Given the description of an element on the screen output the (x, y) to click on. 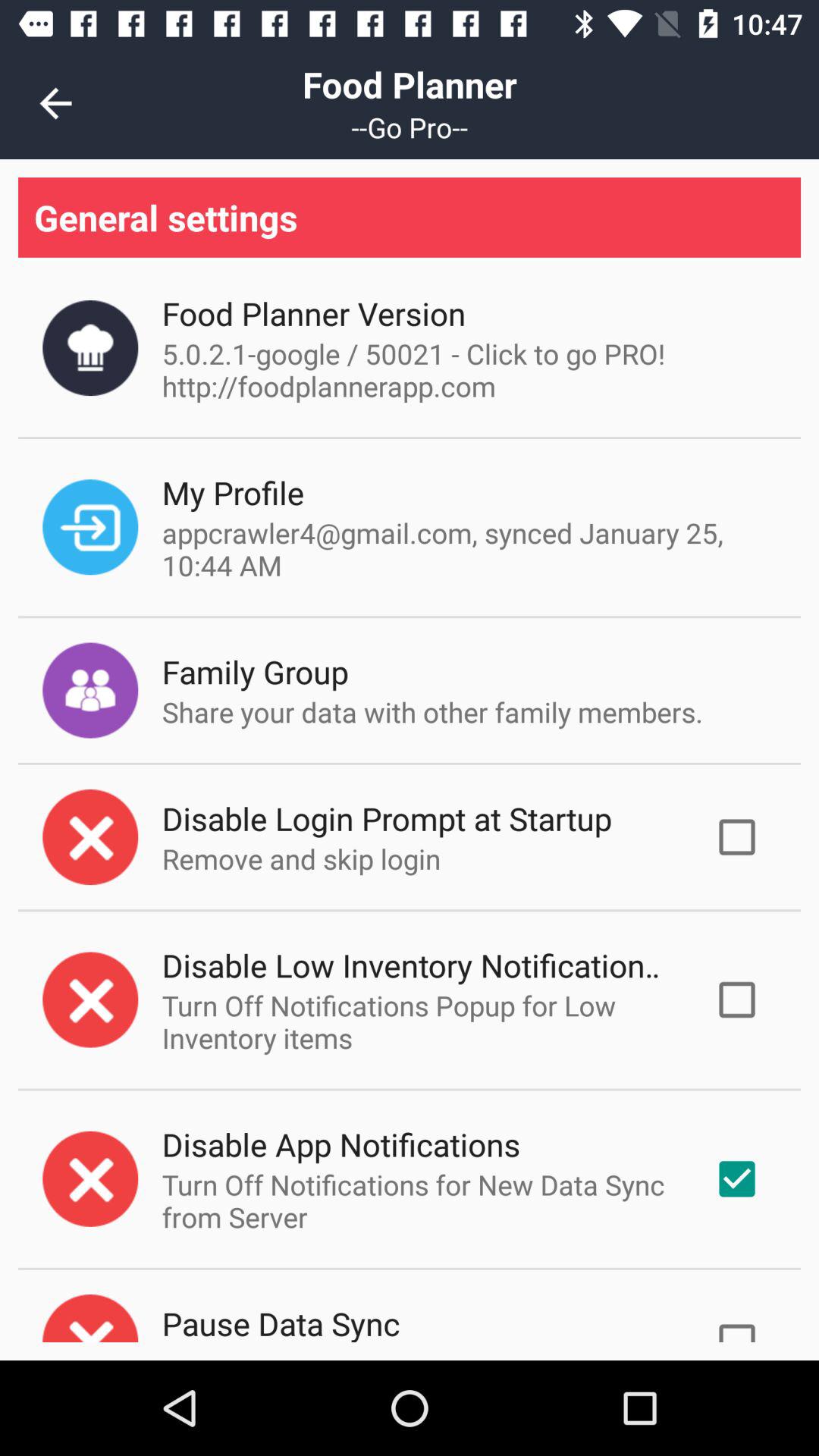
jump until my profile icon (233, 492)
